Given the description of an element on the screen output the (x, y) to click on. 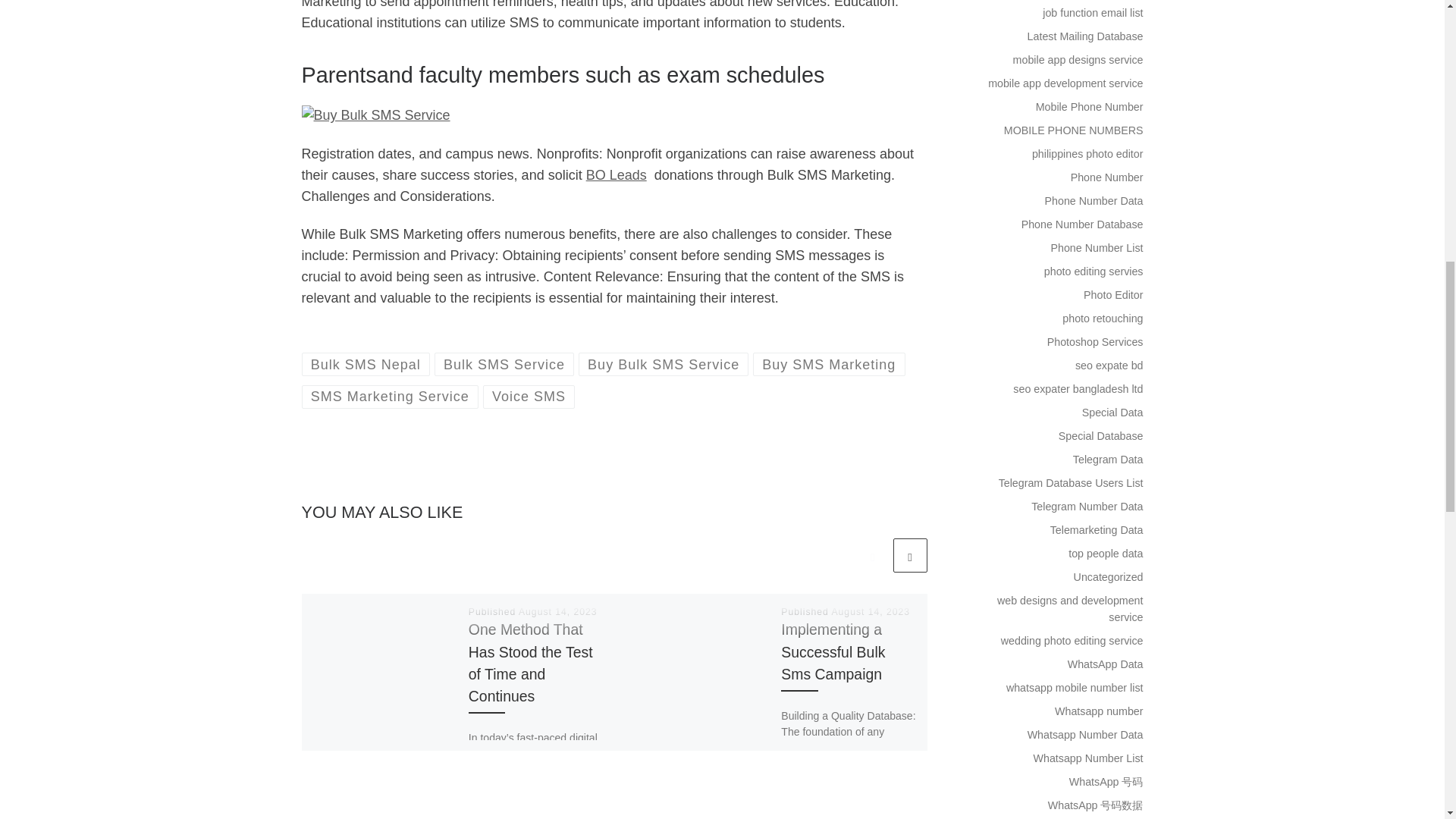
Previous related articles (872, 555)
BO Leads (616, 174)
View all posts in Bulk SMS Nepal (365, 363)
View all posts in Bulk SMS Service (504, 363)
View all posts in SMS Marketing Service (390, 396)
August 14, 2023 (870, 611)
View all posts in Buy Bulk SMS Service (663, 363)
August 14, 2023 (557, 611)
View all posts in Buy SMS Marketing (828, 363)
Bulk SMS Service (504, 363)
